Given the description of an element on the screen output the (x, y) to click on. 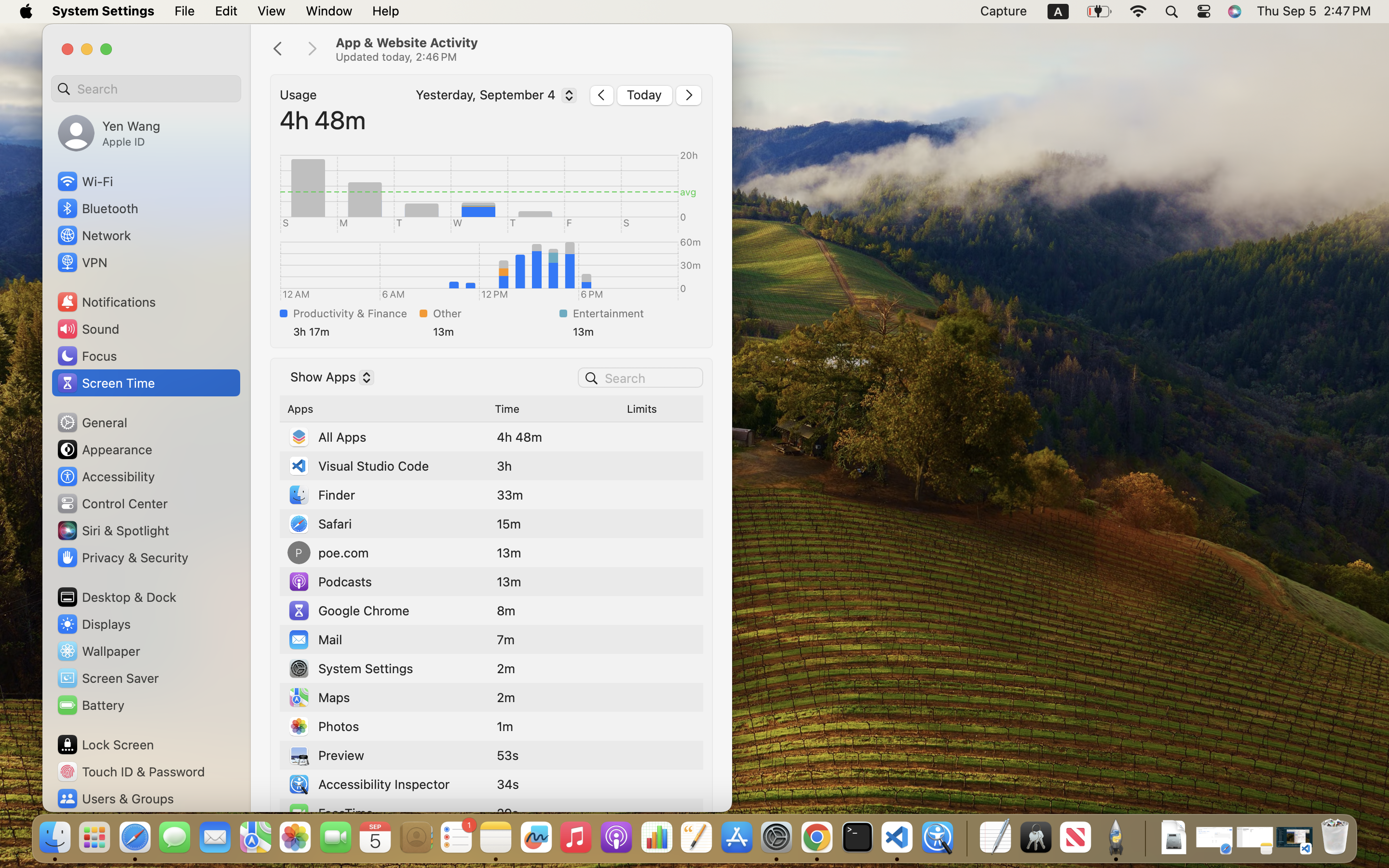
Screen Saver Element type: AXStaticText (107, 677)
Show Apps Element type: AXPopUpButton (328, 378)
15m Element type: AXStaticText (508, 523)
33m Element type: AXStaticText (509, 494)
Usage Element type: AXStaticText (298, 94)
